Given the description of an element on the screen output the (x, y) to click on. 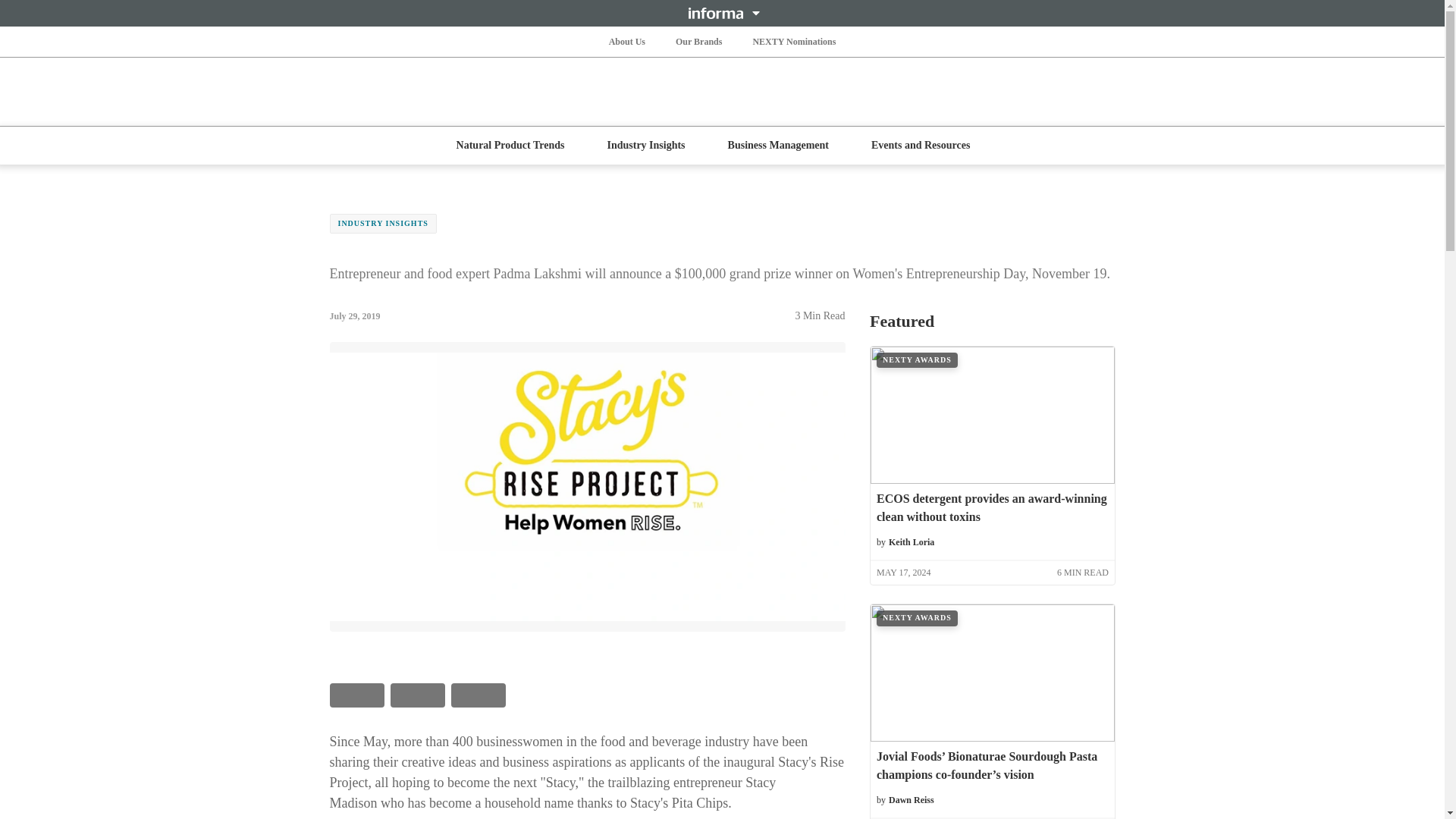
Our Brands (698, 41)
About Us (626, 41)
NEXTY Nominations (793, 41)
